Given the description of an element on the screen output the (x, y) to click on. 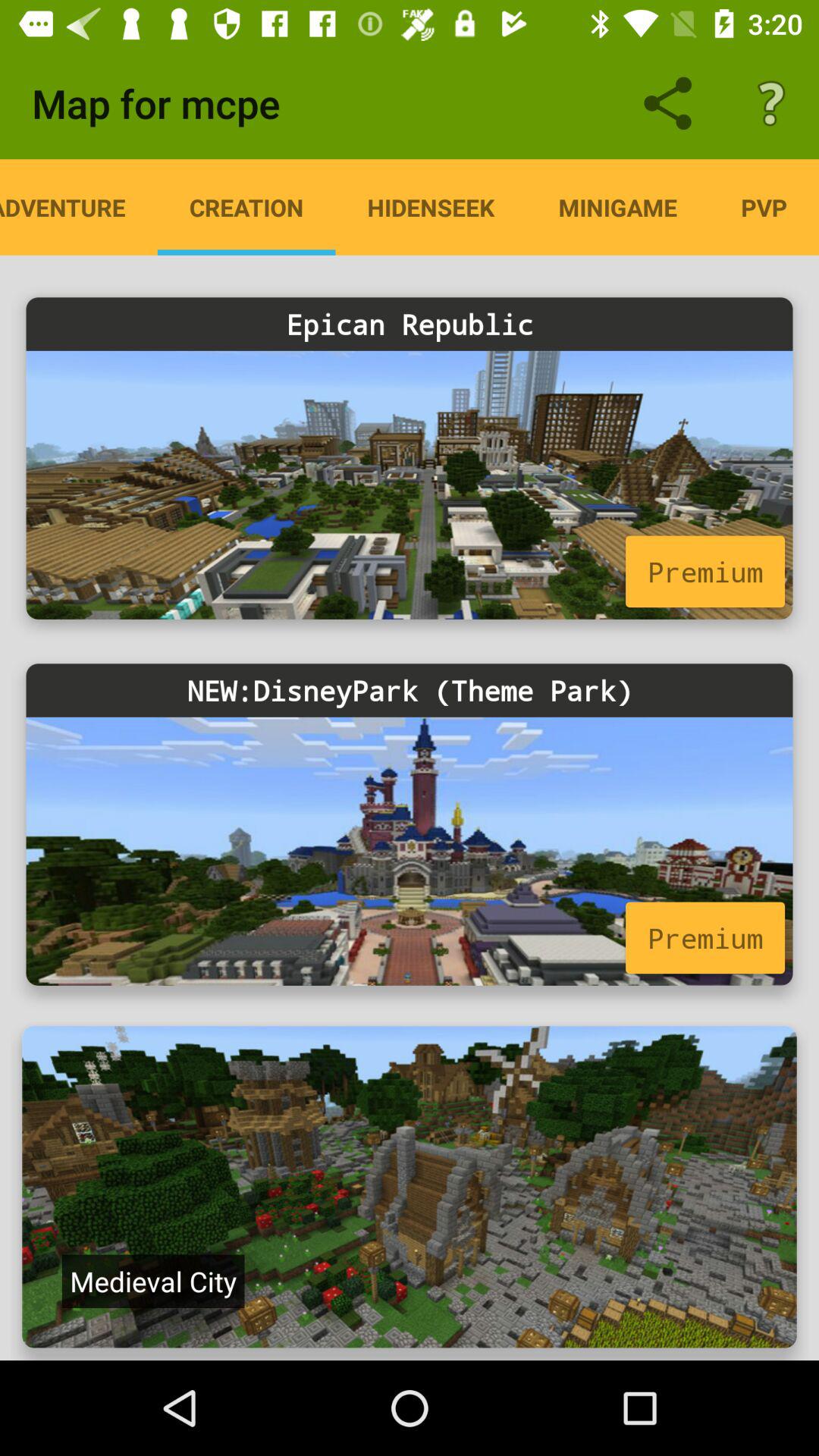
goes to a map (409, 1186)
